Given the description of an element on the screen output the (x, y) to click on. 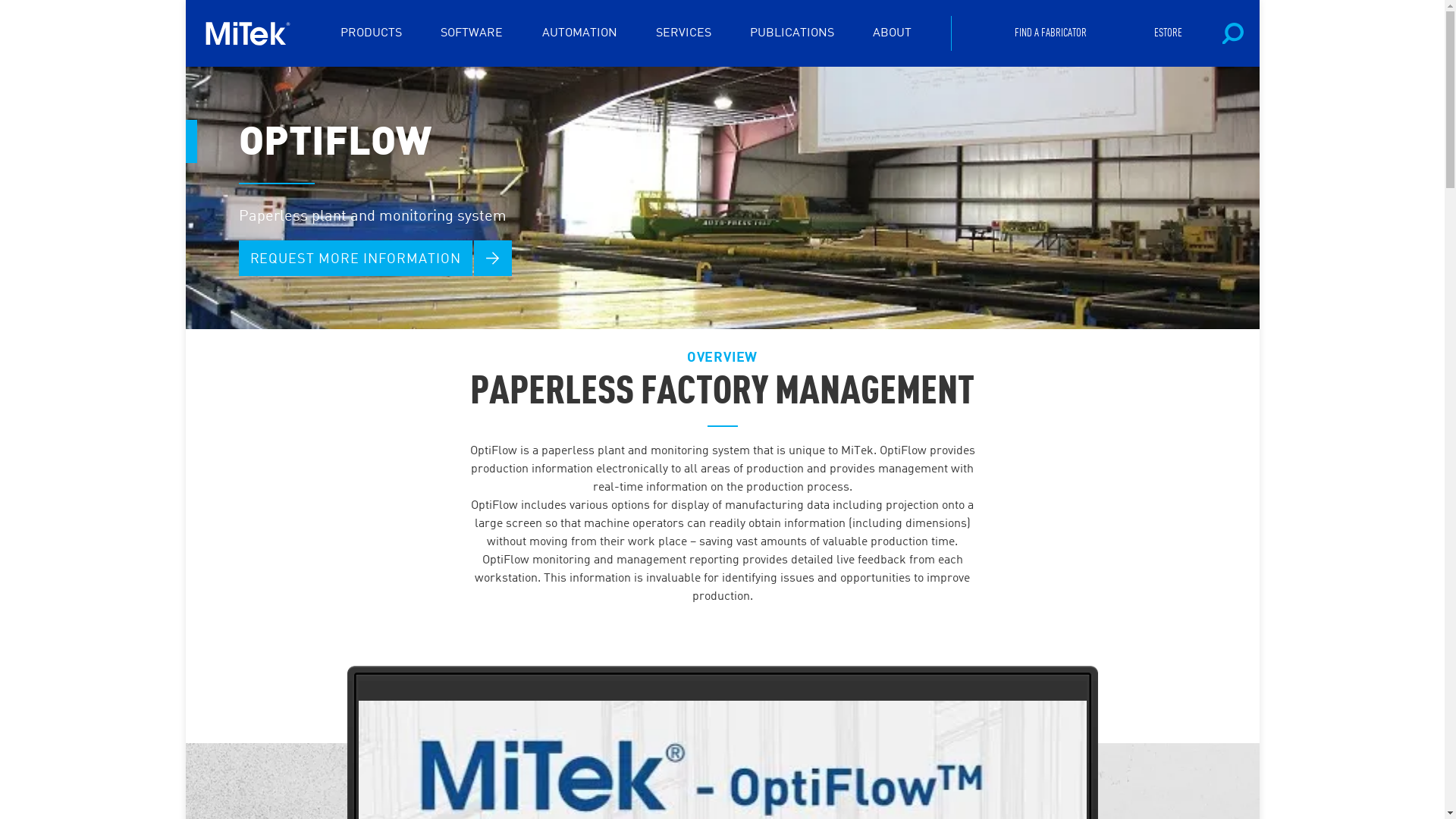
FIND A FABRICATOR Element type: text (1050, 33)
SERVICES Element type: text (683, 33)
PRODUCTS Element type: text (370, 33)
ESTORE Element type: text (1168, 33)
SOFTWARE Element type: text (471, 33)
PUBLICATIONS Element type: text (791, 33)
ABOUT Element type: text (891, 33)
Search Element type: text (1186, 98)
AUTOMATION Element type: text (579, 33)
REQUEST MORE INFORMATION Element type: text (354, 258)
Click here to return to the homepage. Element type: hover (252, 32)
